Given the description of an element on the screen output the (x, y) to click on. 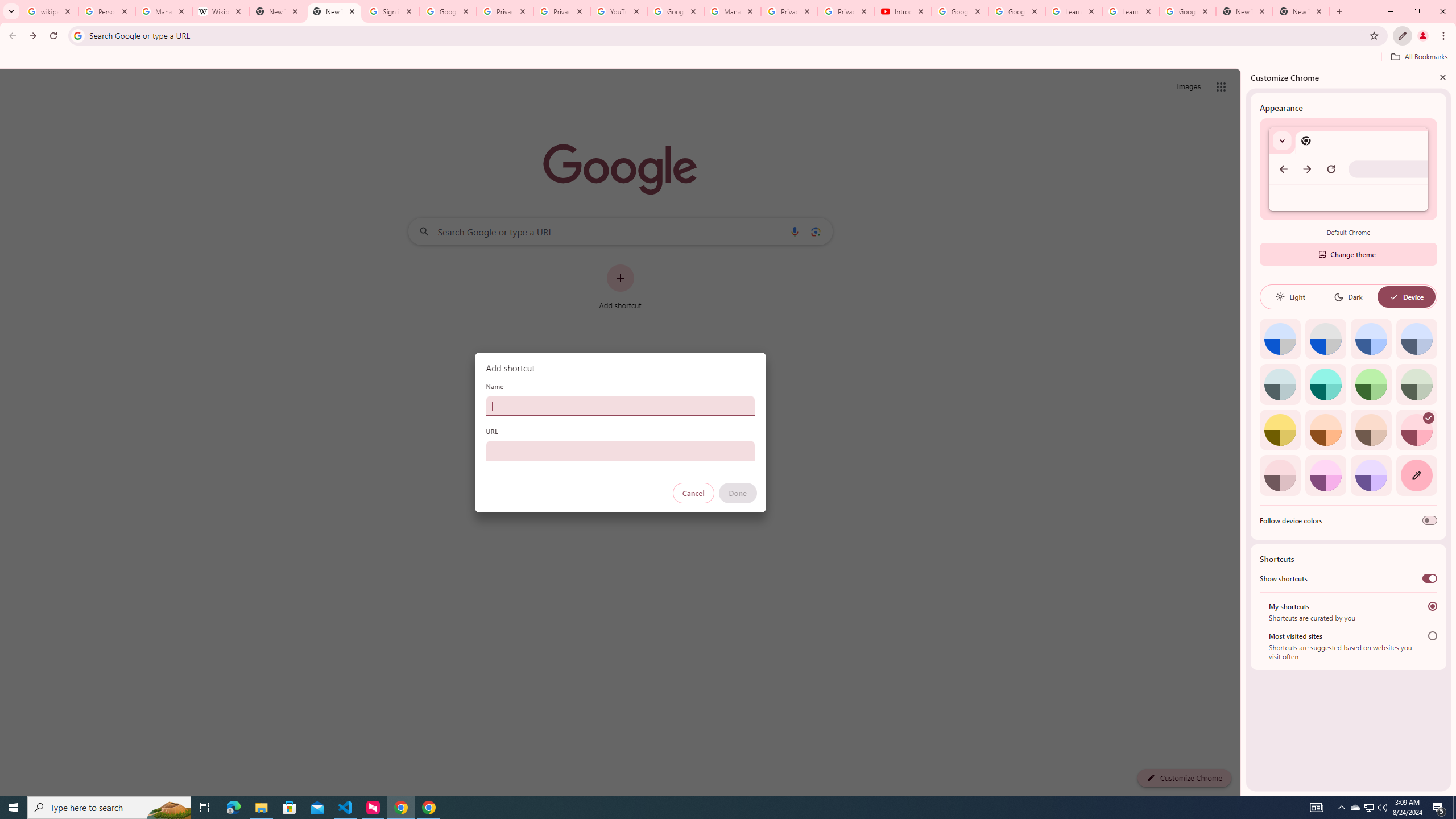
Side Panel Resize Handle (1242, 431)
Google Account Help (675, 11)
Name (620, 405)
Green (1371, 383)
Personalization & Google Search results - Google Search Help (105, 11)
Default Chrome (1348, 169)
Device (1406, 296)
Violet (1371, 475)
New Tab (334, 11)
